Given the description of an element on the screen output the (x, y) to click on. 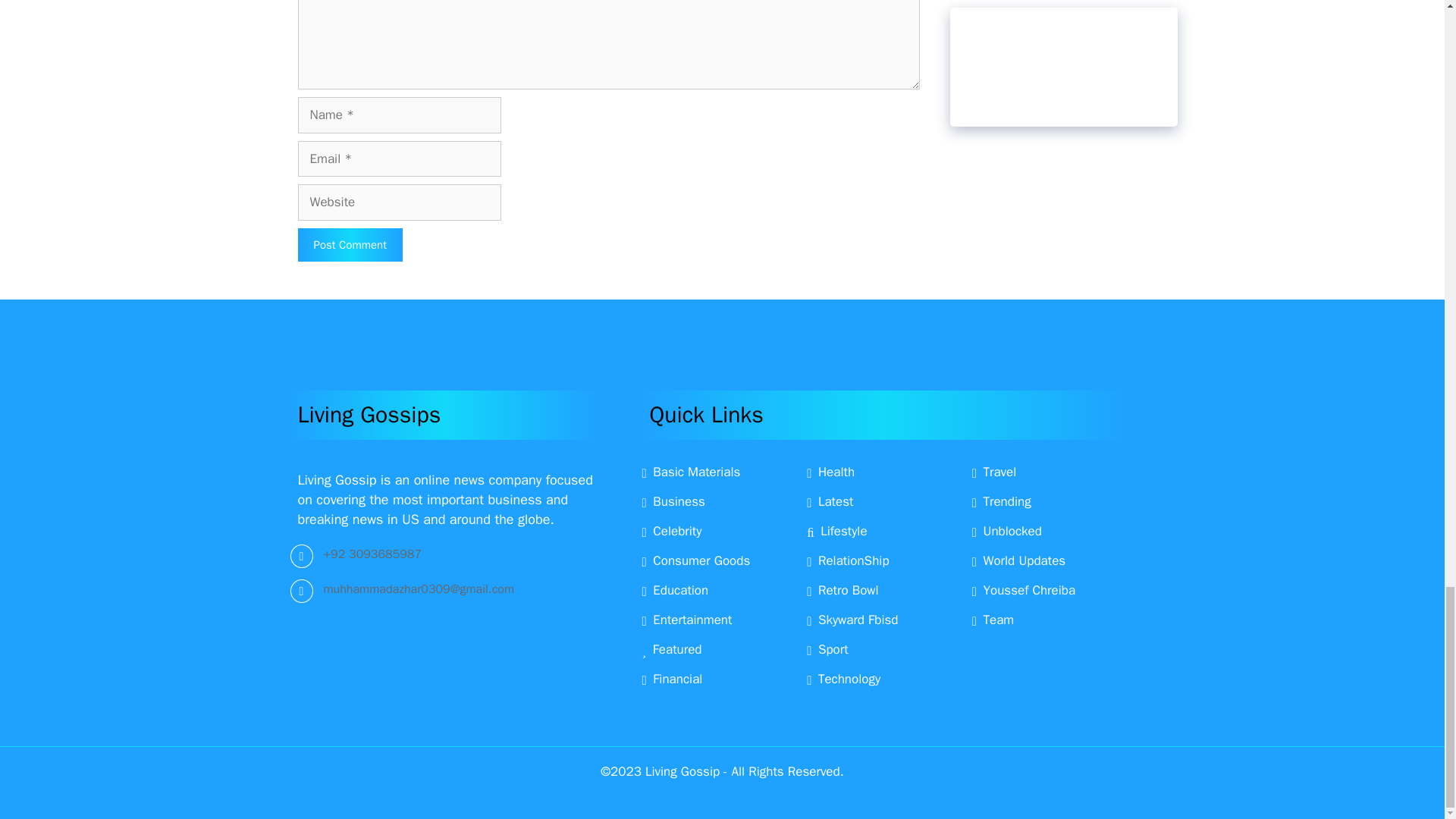
Basic Materials (690, 471)
Celebrity (671, 530)
Business (673, 501)
Post Comment (349, 245)
Post Comment (349, 245)
